Given the description of an element on the screen output the (x, y) to click on. 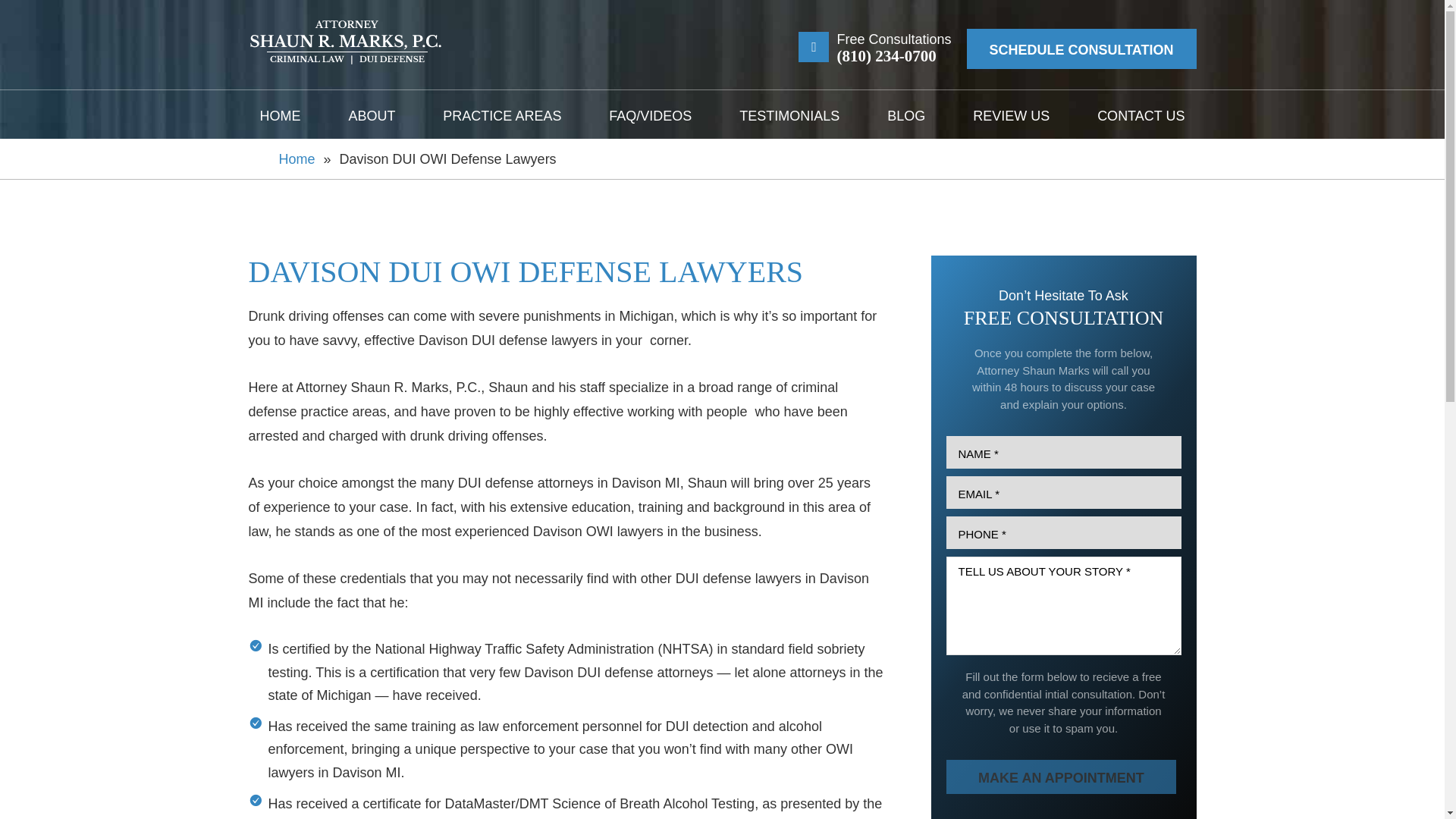
HOME (280, 115)
PRACTICE AREAS (501, 115)
CONTACT US (1140, 115)
ABOUT (371, 115)
Make an Appointment (1061, 776)
BLOG (906, 115)
TESTIMONIALS (789, 115)
SHAUN R. MARKS, P.C. (345, 42)
SCHEDULE CONSULTATION (1080, 48)
REVIEW US (1010, 115)
